Given the description of an element on the screen output the (x, y) to click on. 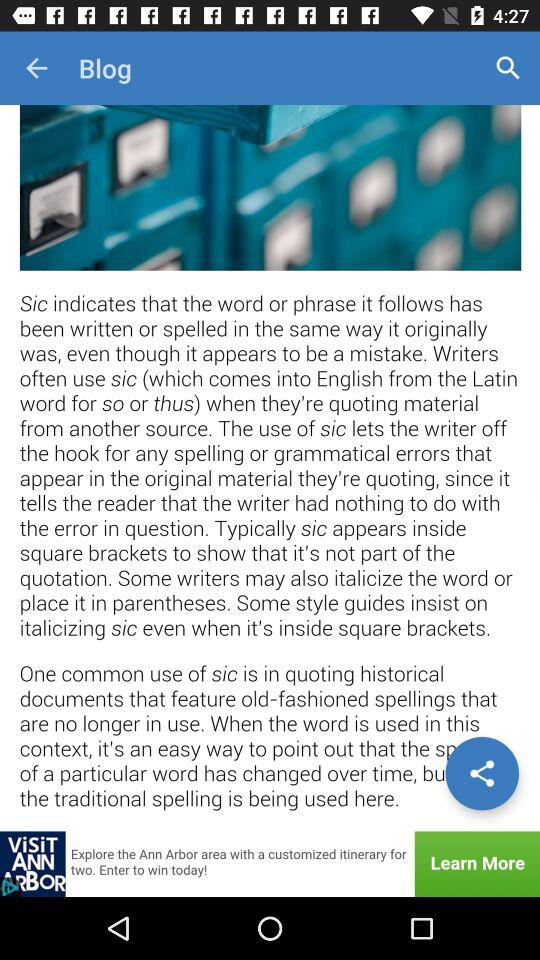
open advertisement (270, 864)
